Given the description of an element on the screen output the (x, y) to click on. 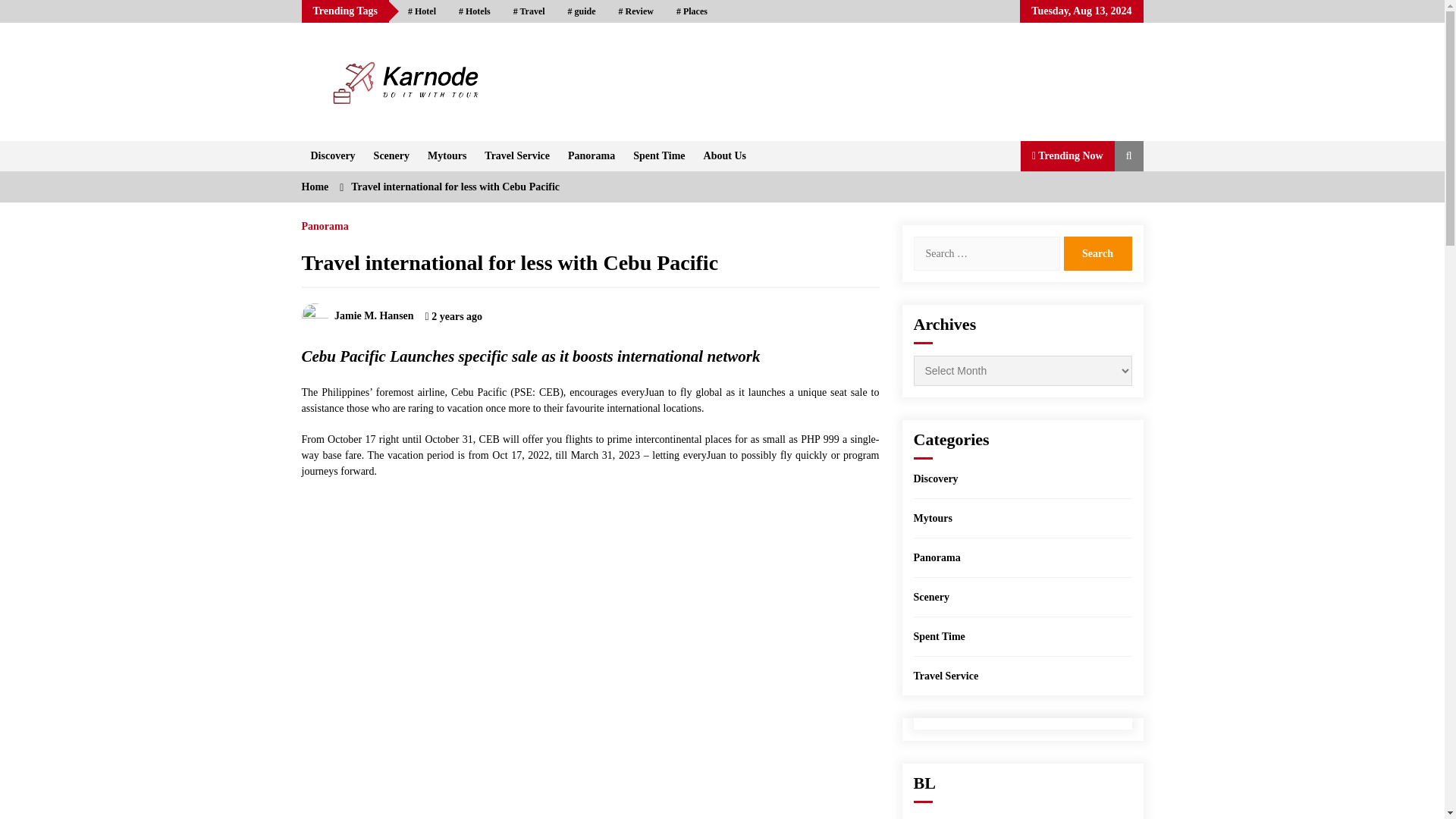
Travel (529, 11)
Hotel (421, 11)
Hotels (474, 11)
Places (692, 11)
Panorama (591, 155)
Review (636, 11)
guide (581, 11)
Search (1096, 253)
Mytours (447, 155)
Scenery (392, 155)
